Given the description of an element on the screen output the (x, y) to click on. 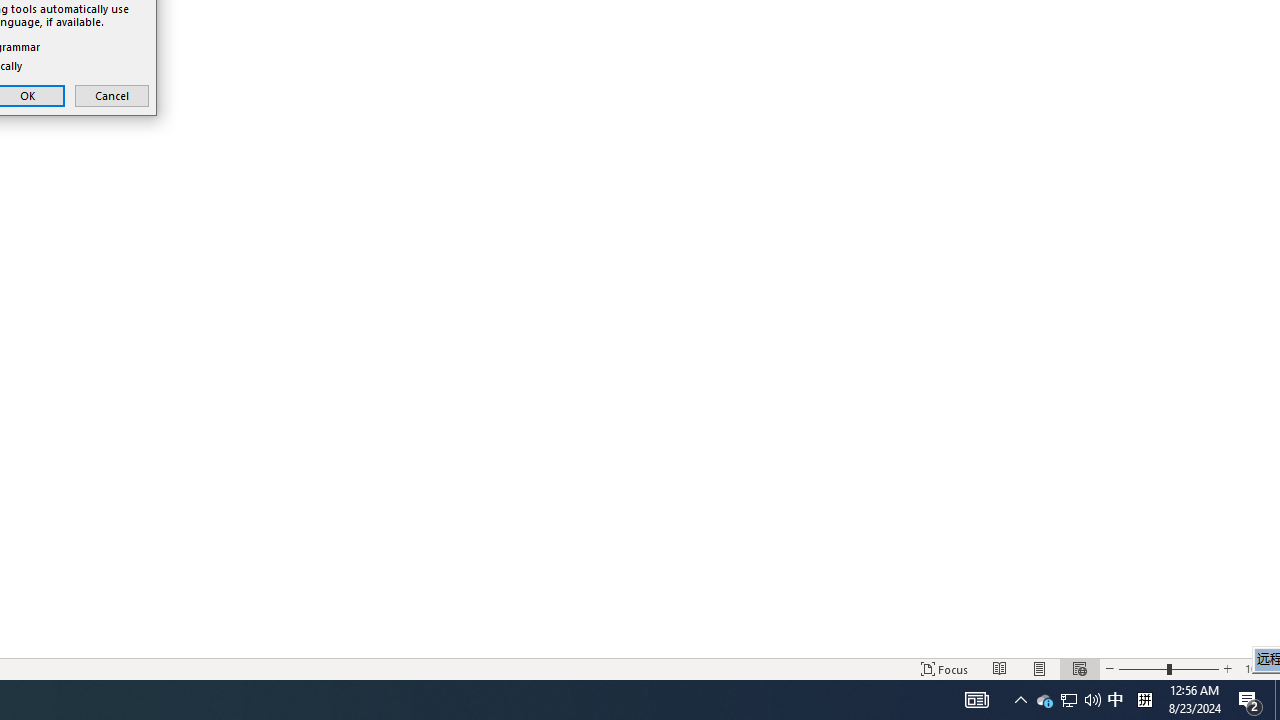
Zoom (1168, 668)
Notification Chevron (1020, 699)
Zoom 100% (1258, 668)
Action Center, 2 new notifications (1250, 699)
Print Layout (1039, 668)
